Given the description of an element on the screen output the (x, y) to click on. 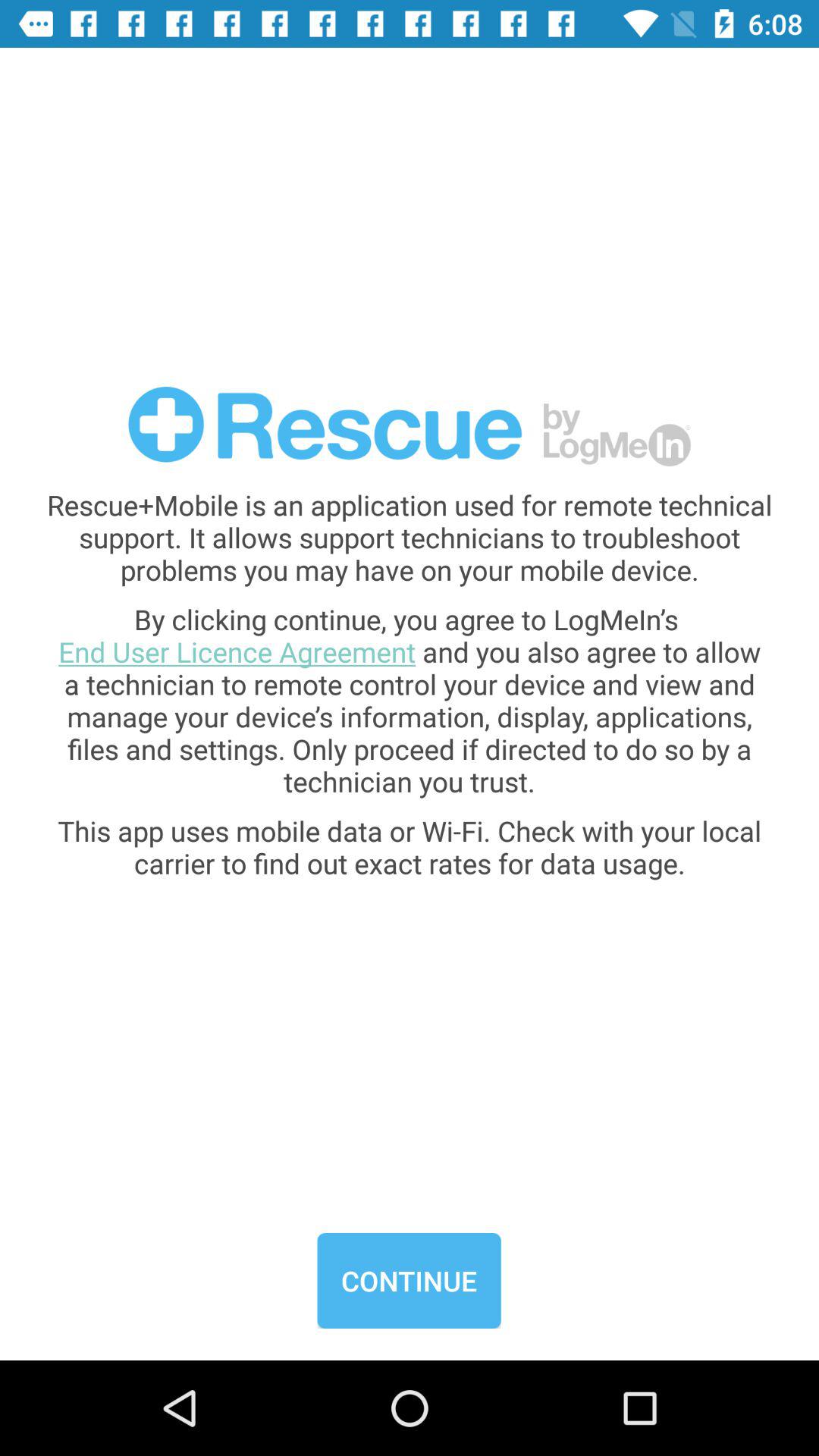
flip until by clicking continue item (409, 700)
